Given the description of an element on the screen output the (x, y) to click on. 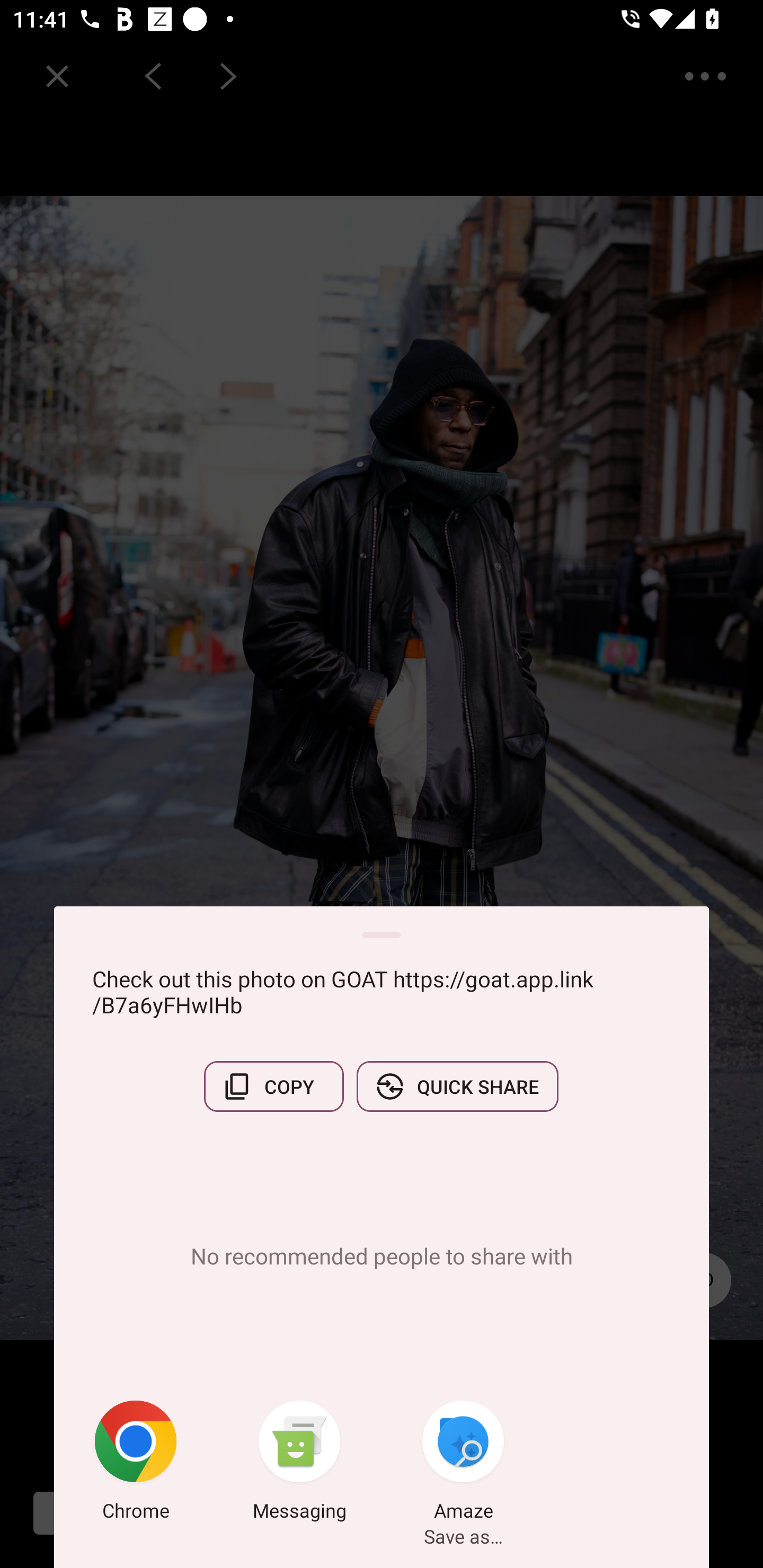
COPY (273, 1086)
QUICK SHARE (457, 1086)
Chrome (135, 1463)
Messaging (299, 1463)
Amaze Save as… (463, 1463)
